Given the description of an element on the screen output the (x, y) to click on. 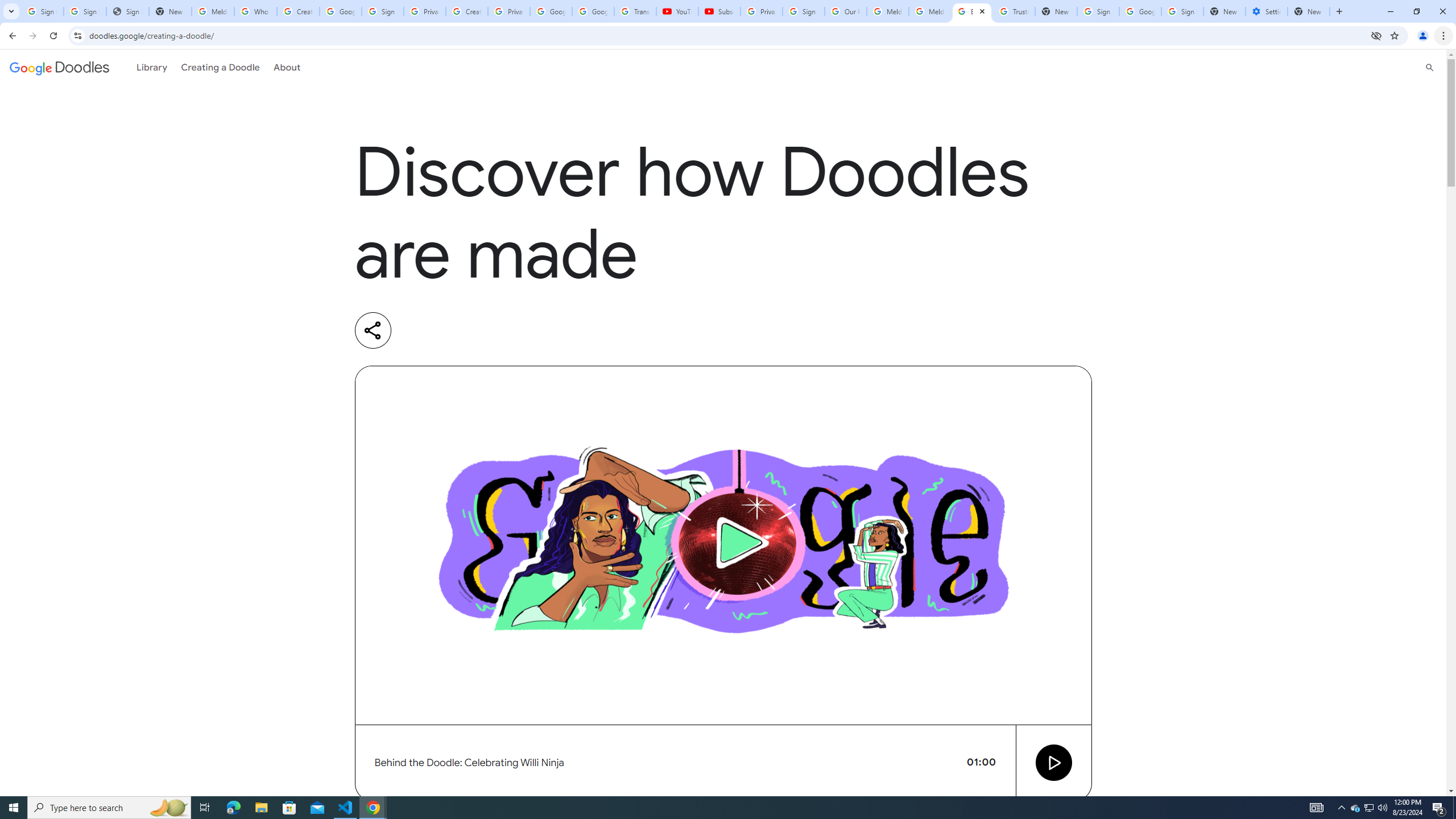
Settings - Addresses and more (1266, 11)
Sign in - Google Accounts (1097, 11)
Who is my administrator? - Google Account Help (255, 11)
Video preview image (722, 545)
Trusted Information and Content - Google Safety Center (1013, 11)
Explore the Process of Creating a Doodle - Google Doodles (972, 11)
YouTube (676, 11)
